Given the description of an element on the screen output the (x, y) to click on. 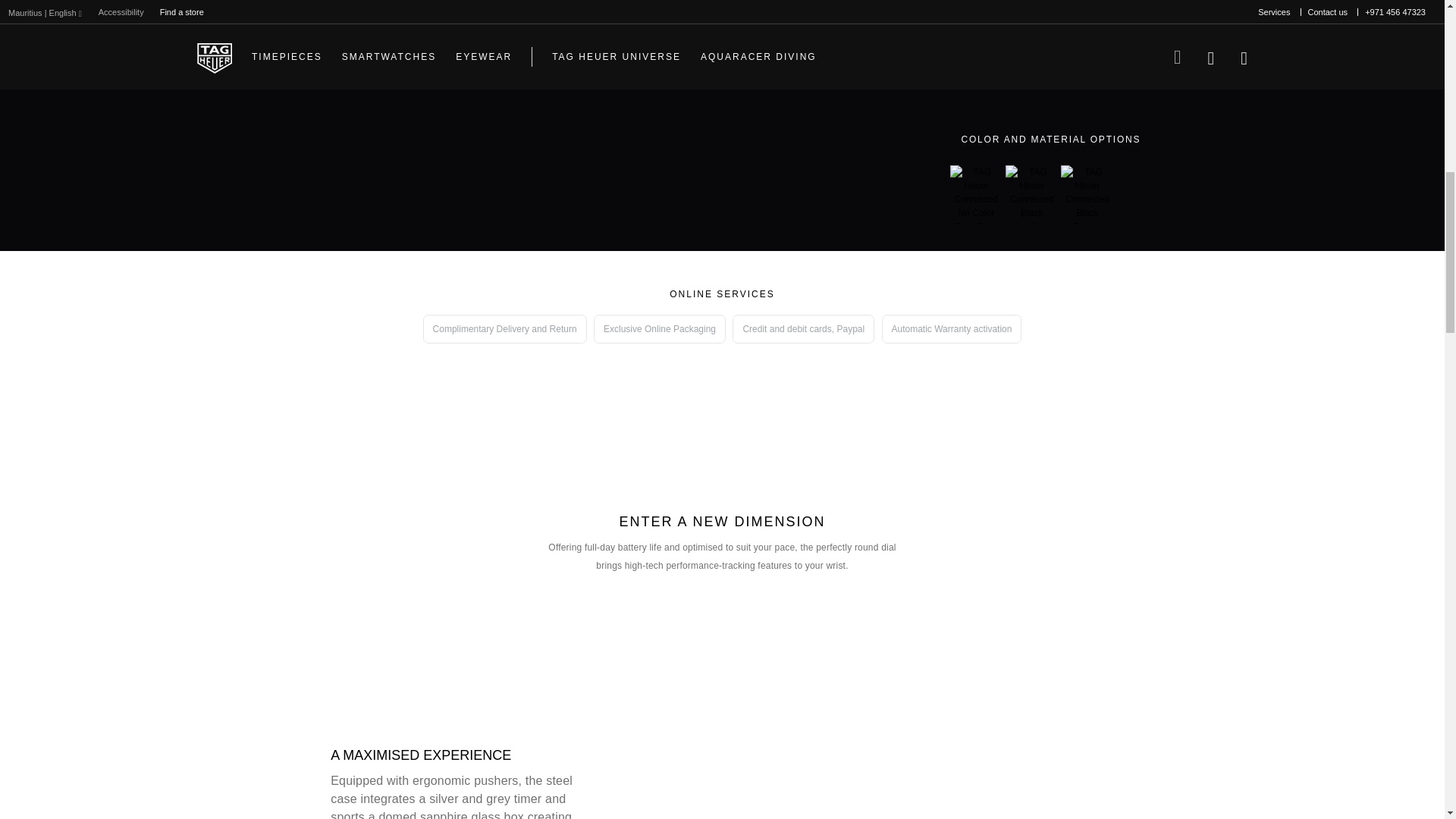
TAG Heuer Connected No Color Steel Steel (976, 194)
TAG Heuer Connected Black Rubber Steel (1087, 194)
TAG Heuer Connected Black Leather Steel (1032, 194)
